Given the description of an element on the screen output the (x, y) to click on. 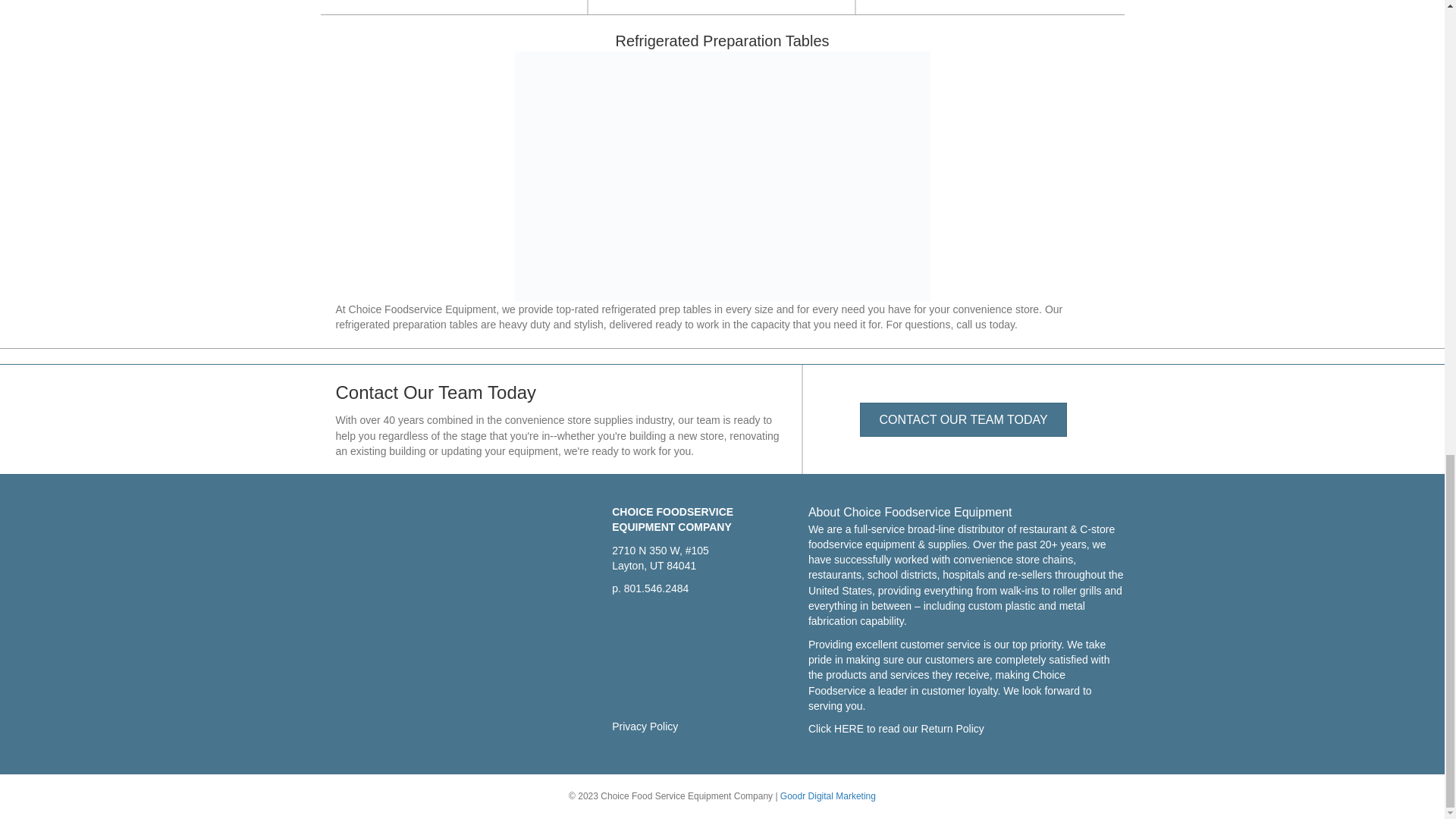
Privacy Policy (644, 726)
Refrigerated Prep Table for Convenience Stores (721, 176)
HERE (848, 728)
Goodr Digital Marketing (828, 796)
Return Policy (952, 728)
CONTACT OUR TEAM TODAY (962, 419)
